Given the description of an element on the screen output the (x, y) to click on. 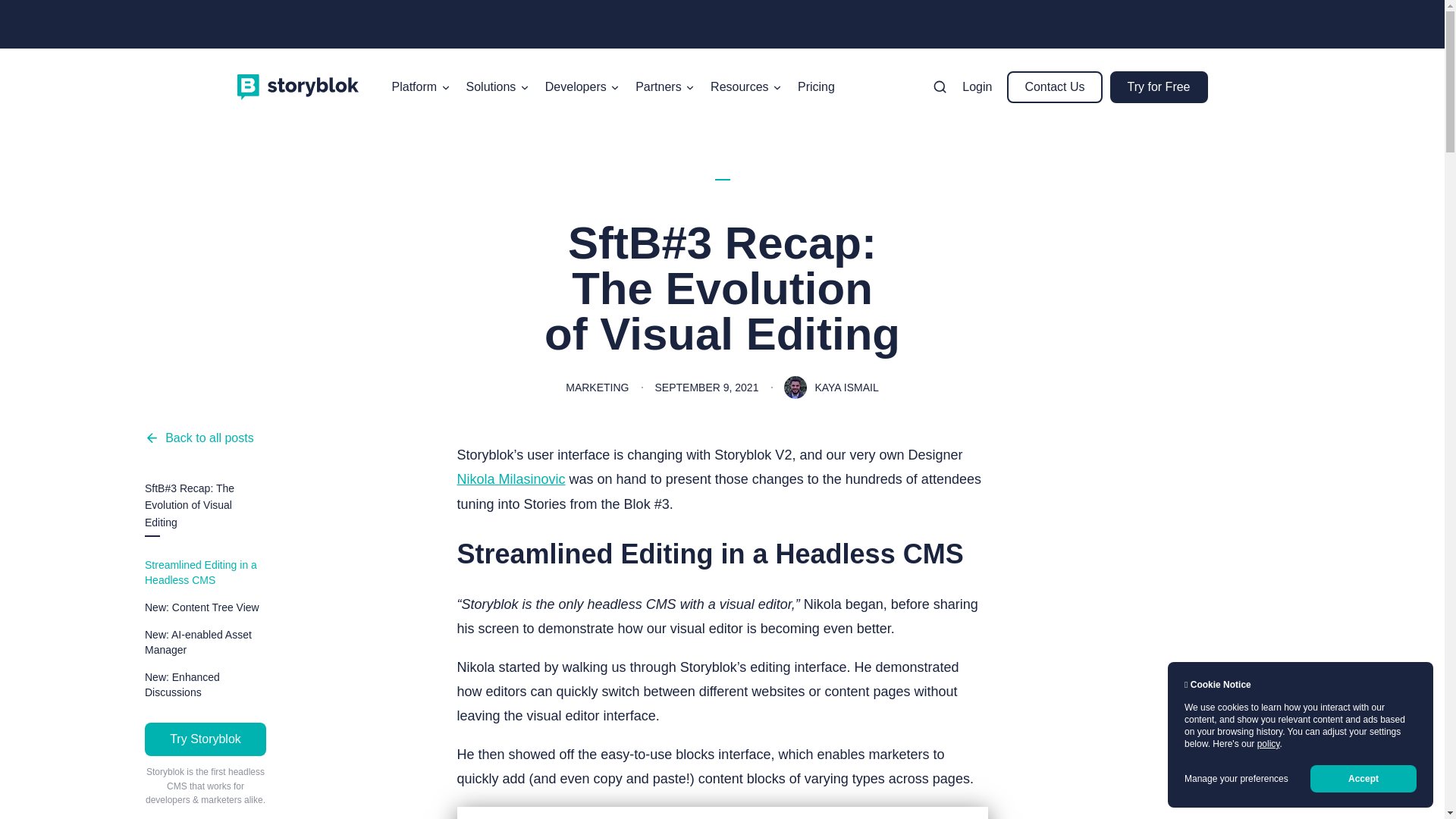
Platform (421, 86)
Resources (746, 86)
Storyblok Homepage (296, 86)
Navigate to Developers (582, 86)
Pricing (816, 86)
Developers (582, 86)
Login (976, 86)
Solutions (497, 86)
Contact Us (1054, 87)
Partners (665, 86)
